Given the description of an element on the screen output the (x, y) to click on. 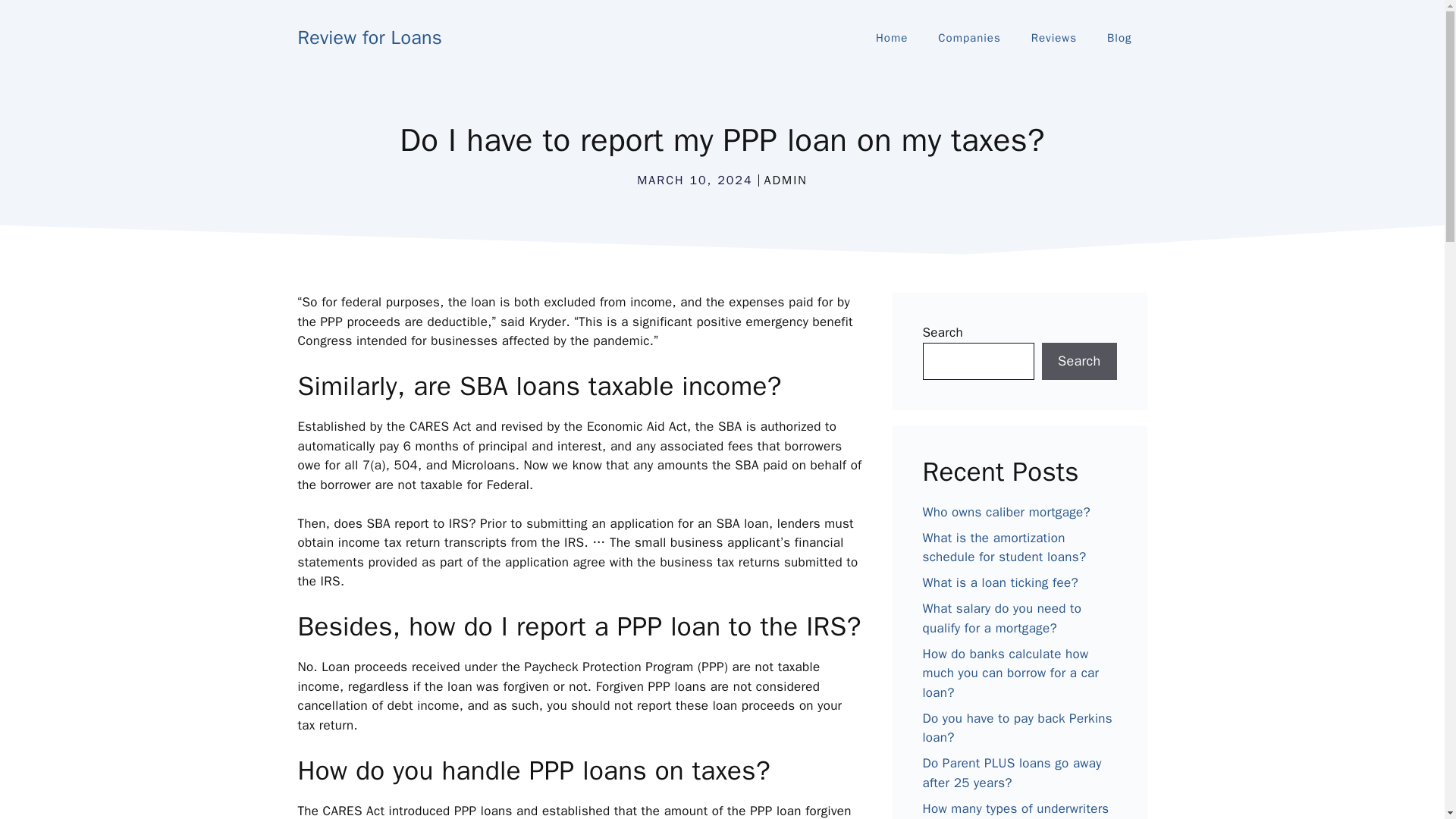
How many types of underwriters are there? (1014, 809)
ADMIN (786, 180)
What is a loan ticking fee? (999, 582)
Who owns caliber mortgage? (1005, 512)
Blog (1119, 37)
What salary do you need to qualify for a mortgage? (1001, 618)
Search (1079, 361)
Review for Loans (369, 37)
Do you have to pay back Perkins loan? (1016, 728)
Reviews (1054, 37)
Do Parent PLUS loans go away after 25 years? (1010, 773)
What is the amortization schedule for student loans? (1003, 547)
Companies (968, 37)
Home (891, 37)
